Given the description of an element on the screen output the (x, y) to click on. 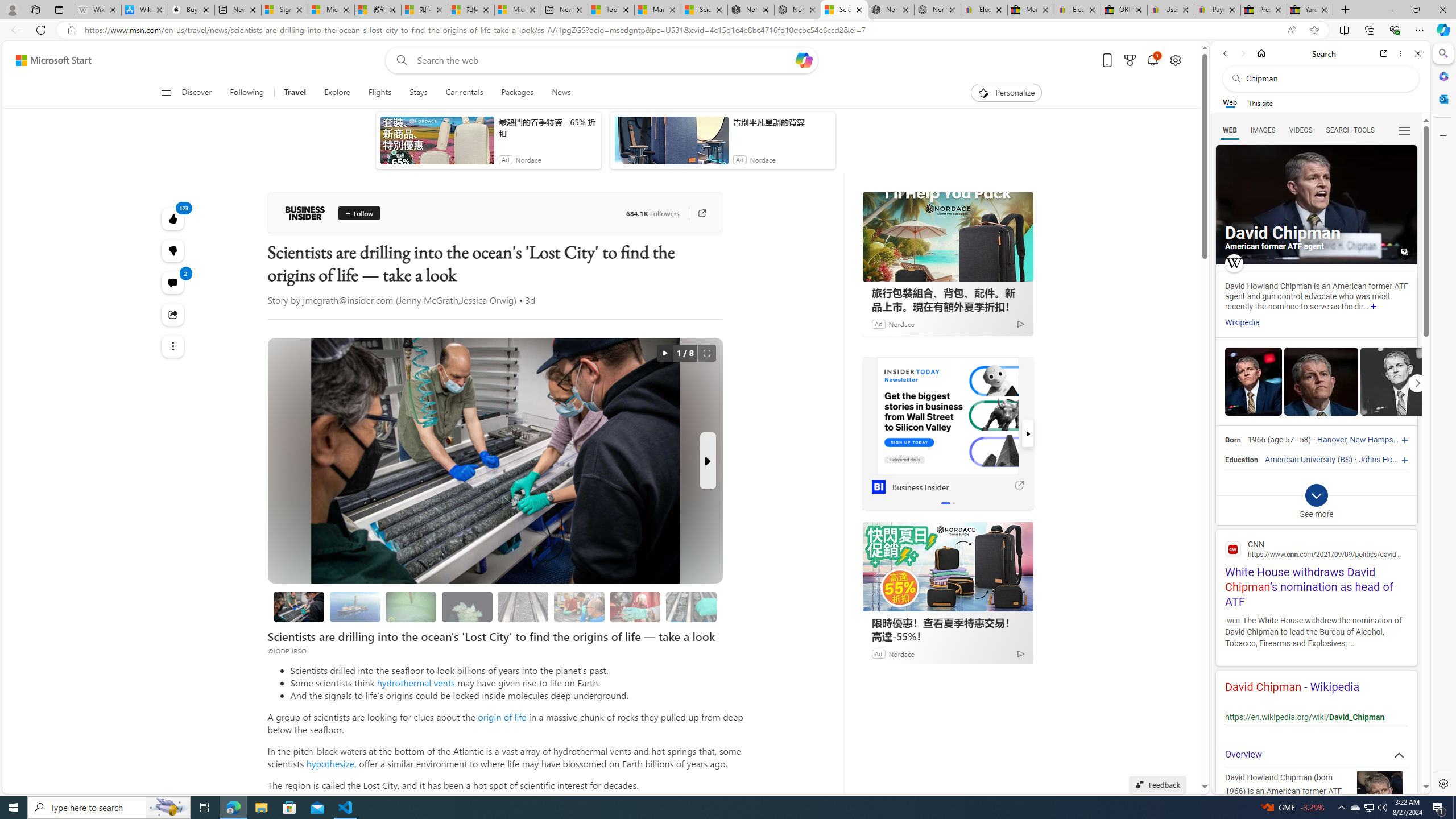
next (1027, 433)
Click to scroll right (1416, 382)
View comments 2 Comment (172, 282)
